Given the description of an element on the screen output the (x, y) to click on. 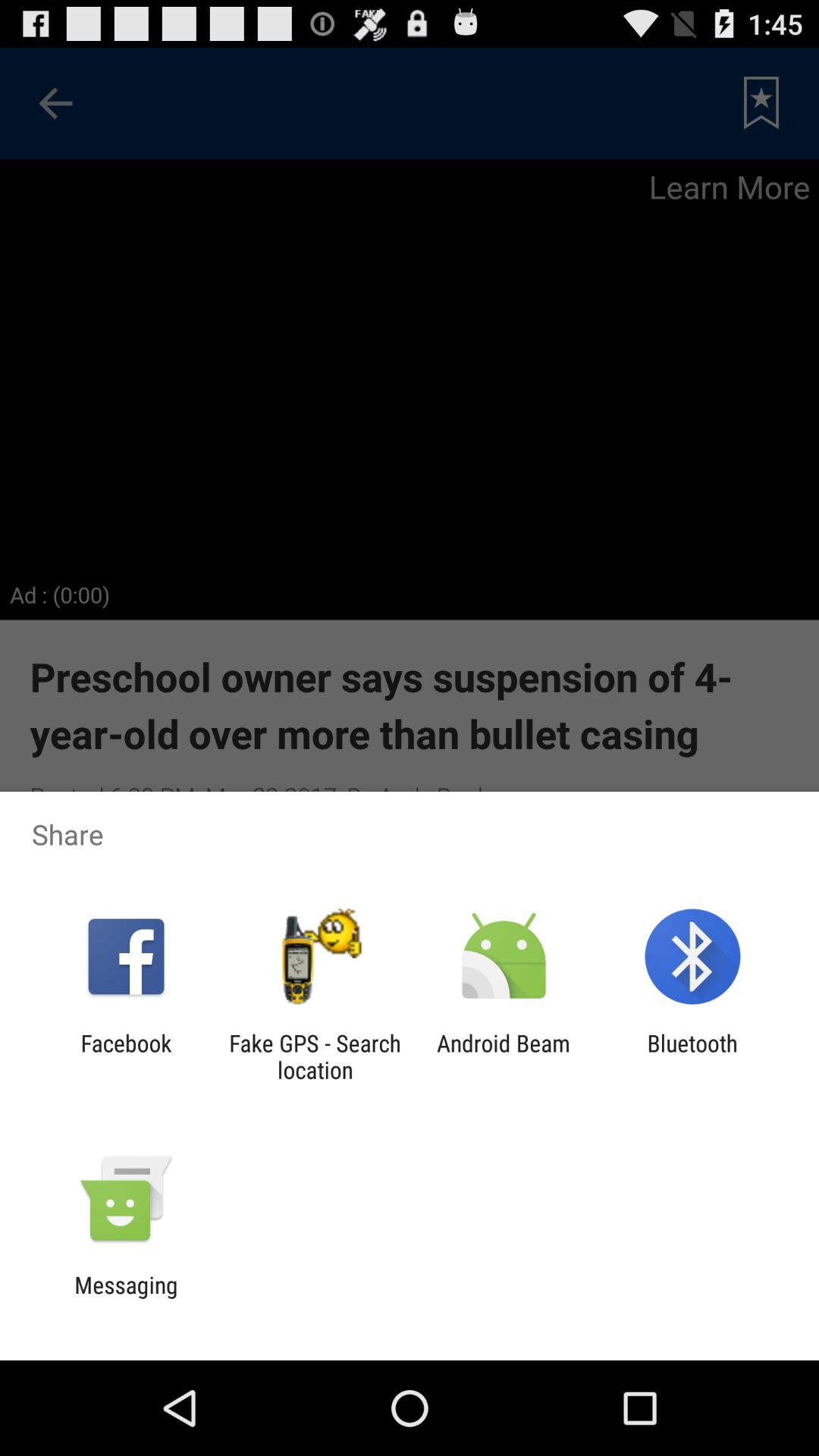
tap android beam icon (503, 1056)
